Given the description of an element on the screen output the (x, y) to click on. 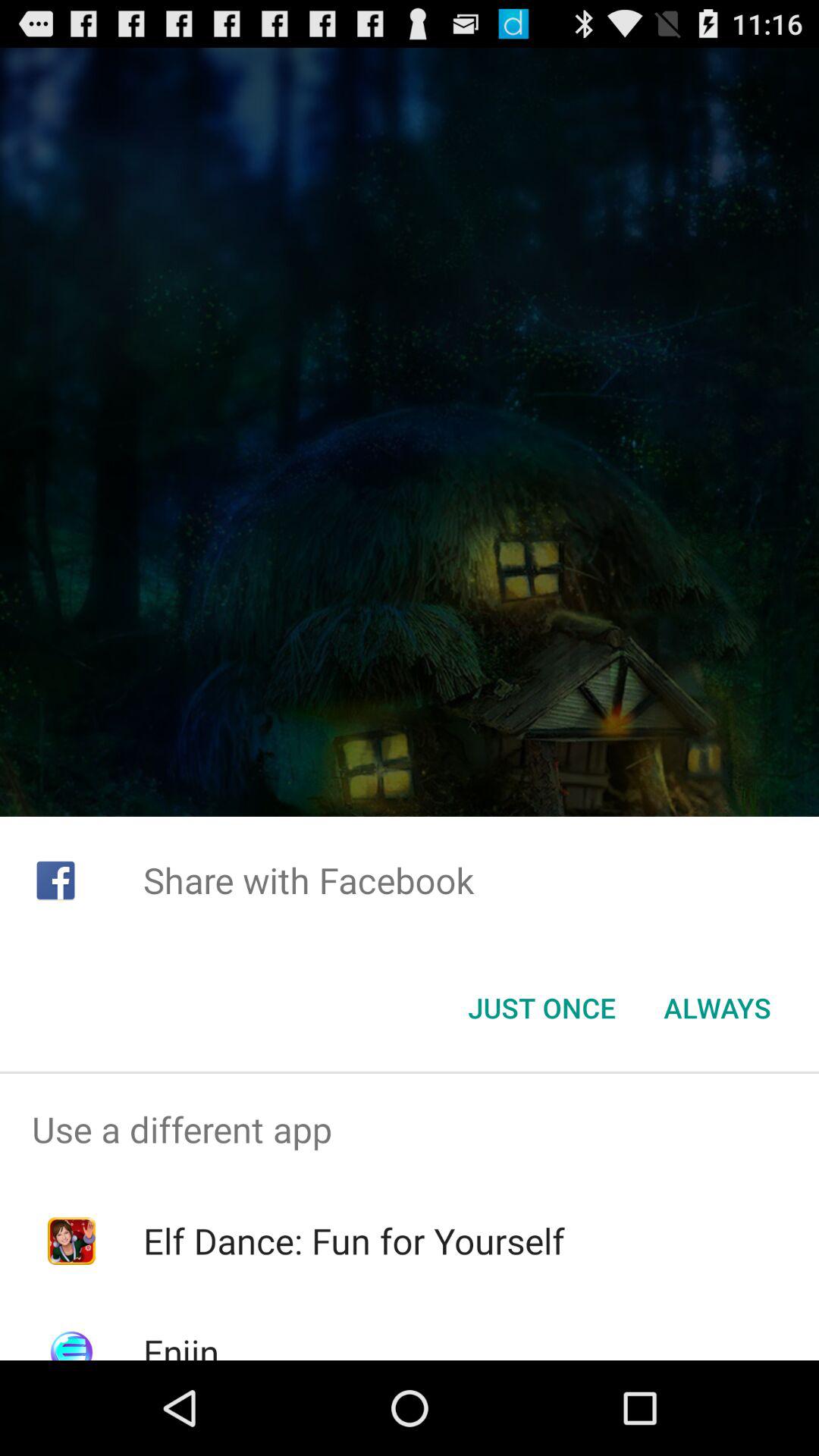
turn on the button to the right of just once icon (717, 1007)
